Given the description of an element on the screen output the (x, y) to click on. 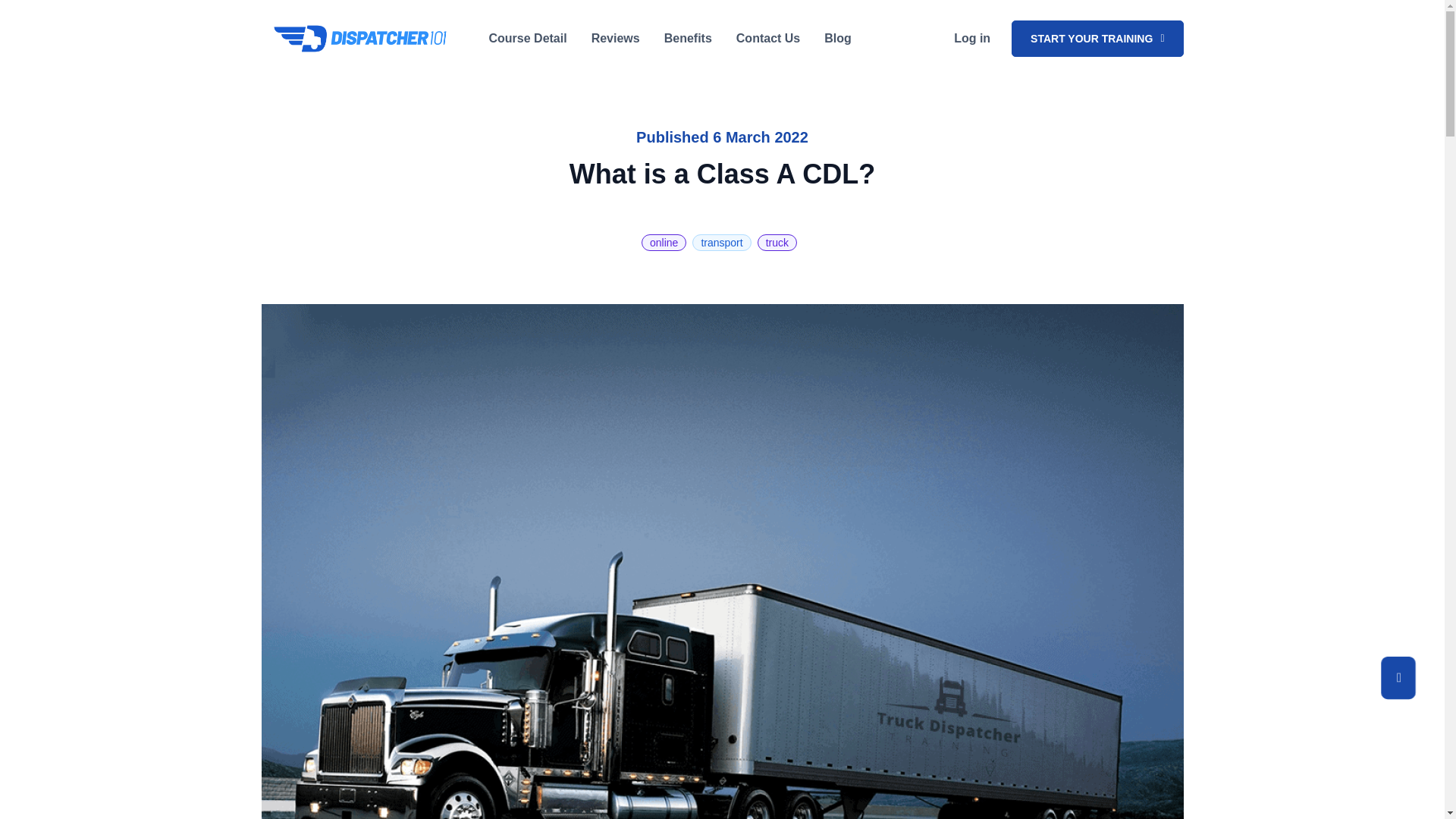
Contact Us (767, 38)
Benefits (687, 38)
START YOUR TRAINING (1096, 38)
Course Detail (527, 38)
Reviews (615, 38)
Blog (837, 38)
online (663, 242)
transport (722, 242)
truck (776, 242)
Log in (972, 38)
